Given the description of an element on the screen output the (x, y) to click on. 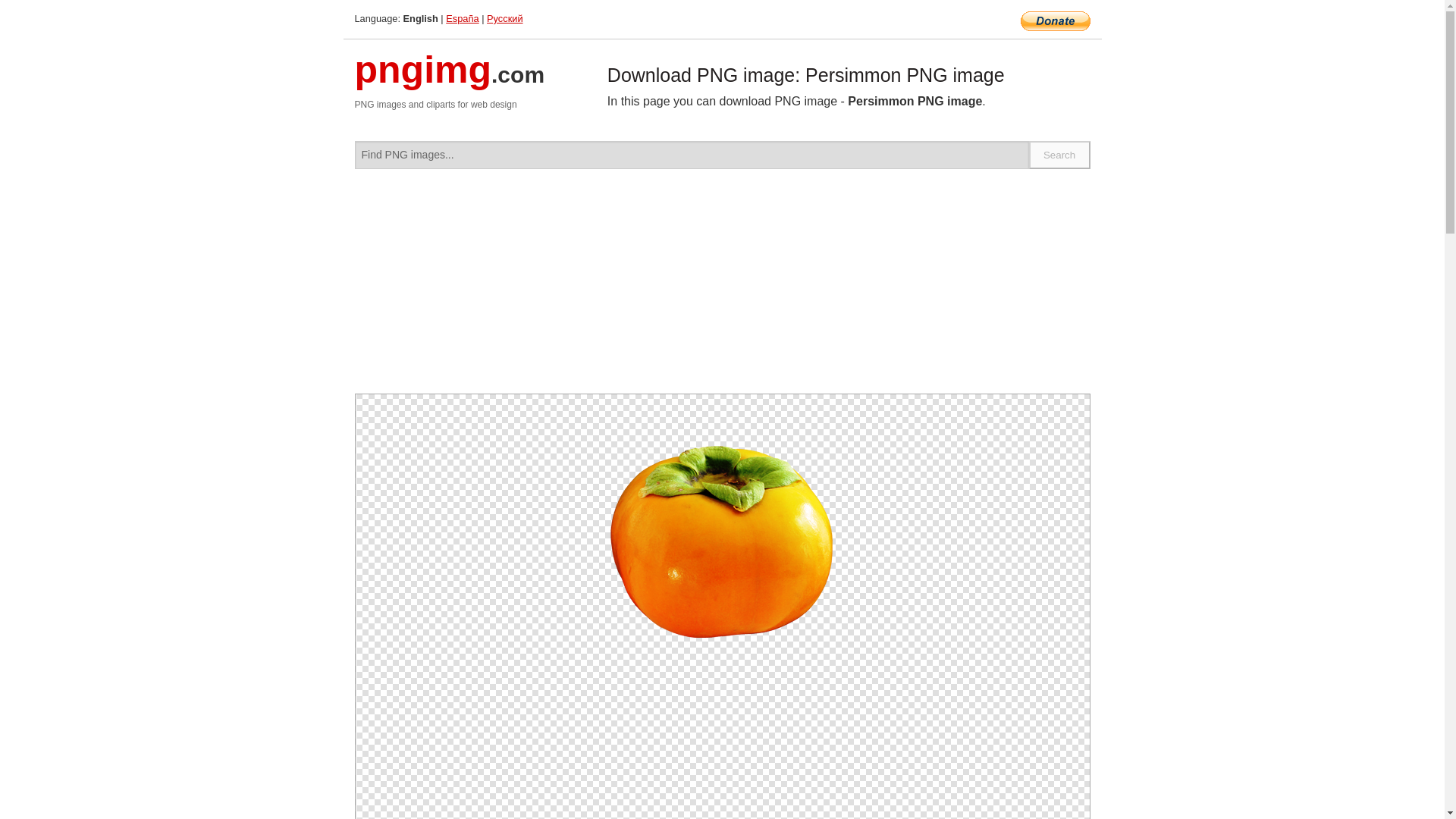
pngimg.com (449, 78)
Persimmon PNG image (722, 546)
Search (1059, 154)
Search (1059, 154)
